Given the description of an element on the screen output the (x, y) to click on. 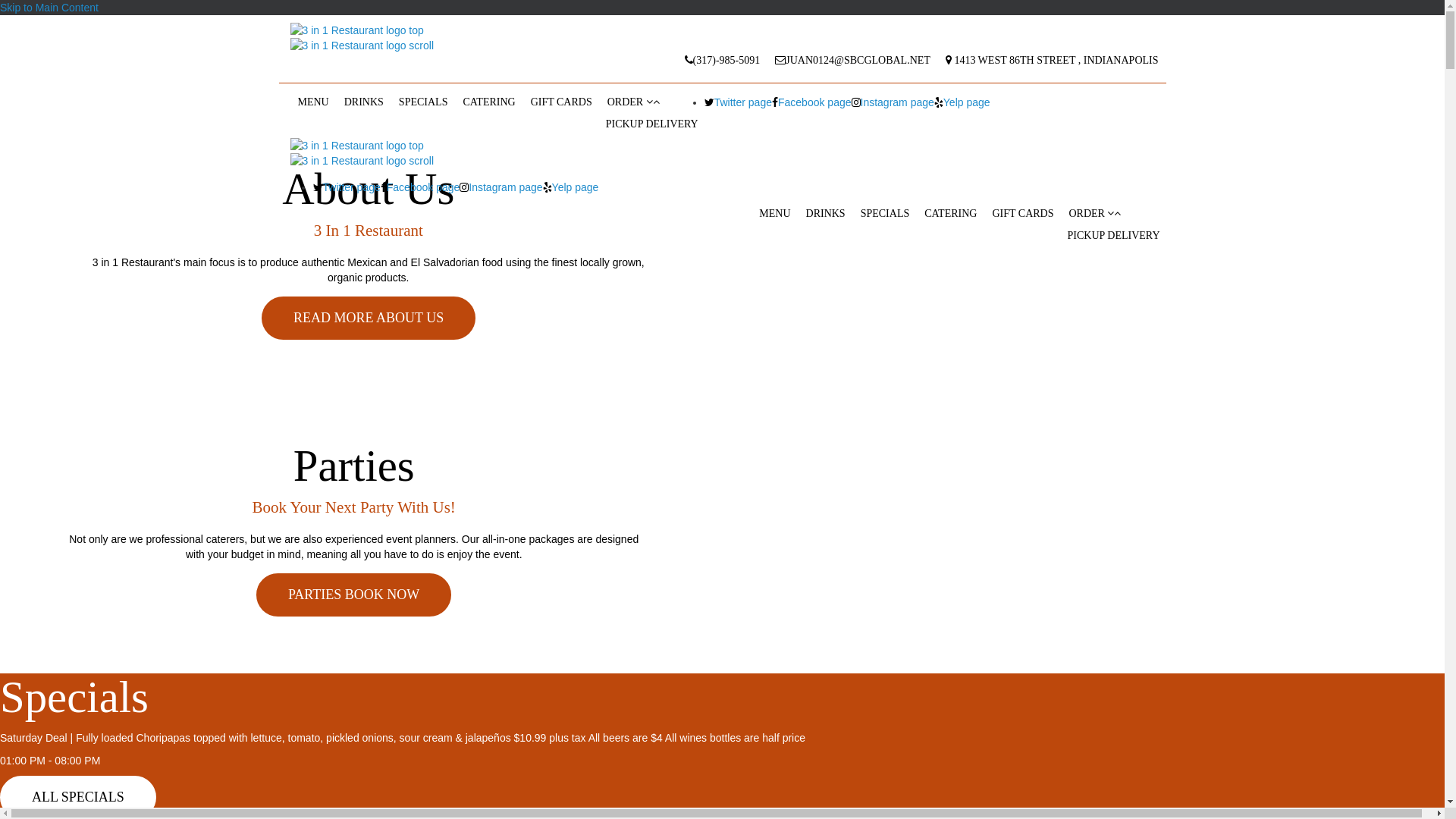
GIFT CARDS Element type: text (1022, 213)
PICKUP Element type: text (625, 123)
Skip to Main Content Element type: text (49, 7)
DELIVERY Element type: text (1133, 235)
Twitter page Element type: text (345, 186)
DRINKS Element type: text (825, 213)
Yelp page Element type: text (962, 101)
MAP MARKER PIN Element type: text (554, 65)
READ MORE ABOUT US Element type: text (368, 317)
MENU Element type: text (774, 213)
CATERING Element type: text (950, 213)
DRINKS Element type: text (363, 101)
Twitter page Element type: text (737, 101)
JUAN0124@SBCGLOBAL.NET Element type: text (852, 60)
the video sound on or off Element type: text (71, 9)
Instagram page Element type: text (892, 101)
MENU Element type: text (312, 101)
CATERING Element type: text (488, 101)
Facebook page Element type: text (811, 101)
SPECIALS Element type: text (885, 213)
PICKUP Element type: text (1087, 235)
DELIVERY Element type: text (672, 123)
(317)-985-5091 Element type: text (722, 60)
PARTIES BOOK NOW Element type: text (353, 594)
SPECIALS Element type: text (423, 101)
Facebook page Element type: text (420, 186)
ORDER Element type: text (651, 101)
Yelp page Element type: text (570, 186)
Instagram page Element type: text (500, 186)
1413 WEST 86TH STREET , INDIANAPOLIS Element type: text (1052, 60)
GIFT CARDS Element type: text (561, 101)
